Given the description of an element on the screen output the (x, y) to click on. 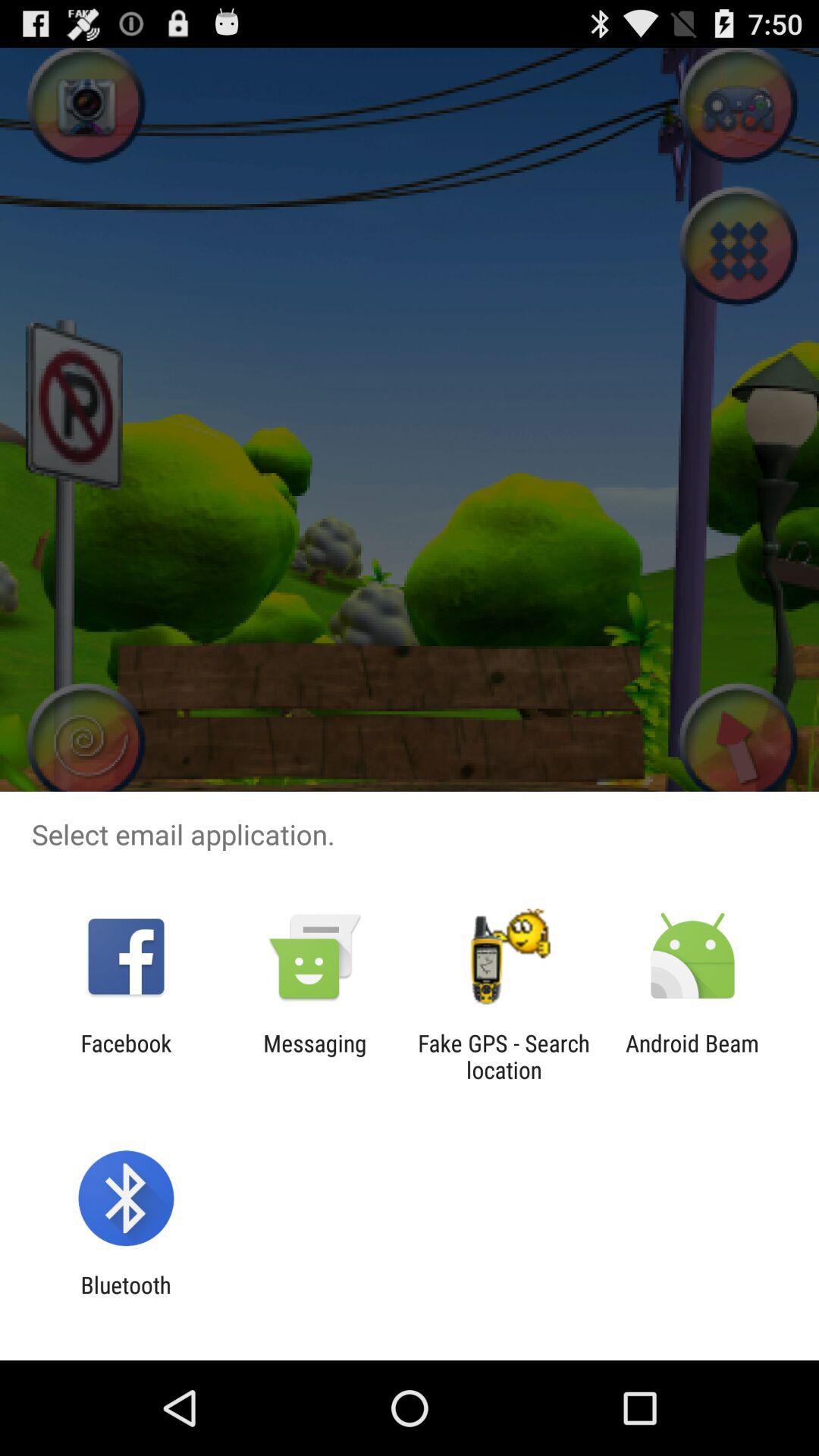
open bluetooth item (125, 1298)
